Given the description of an element on the screen output the (x, y) to click on. 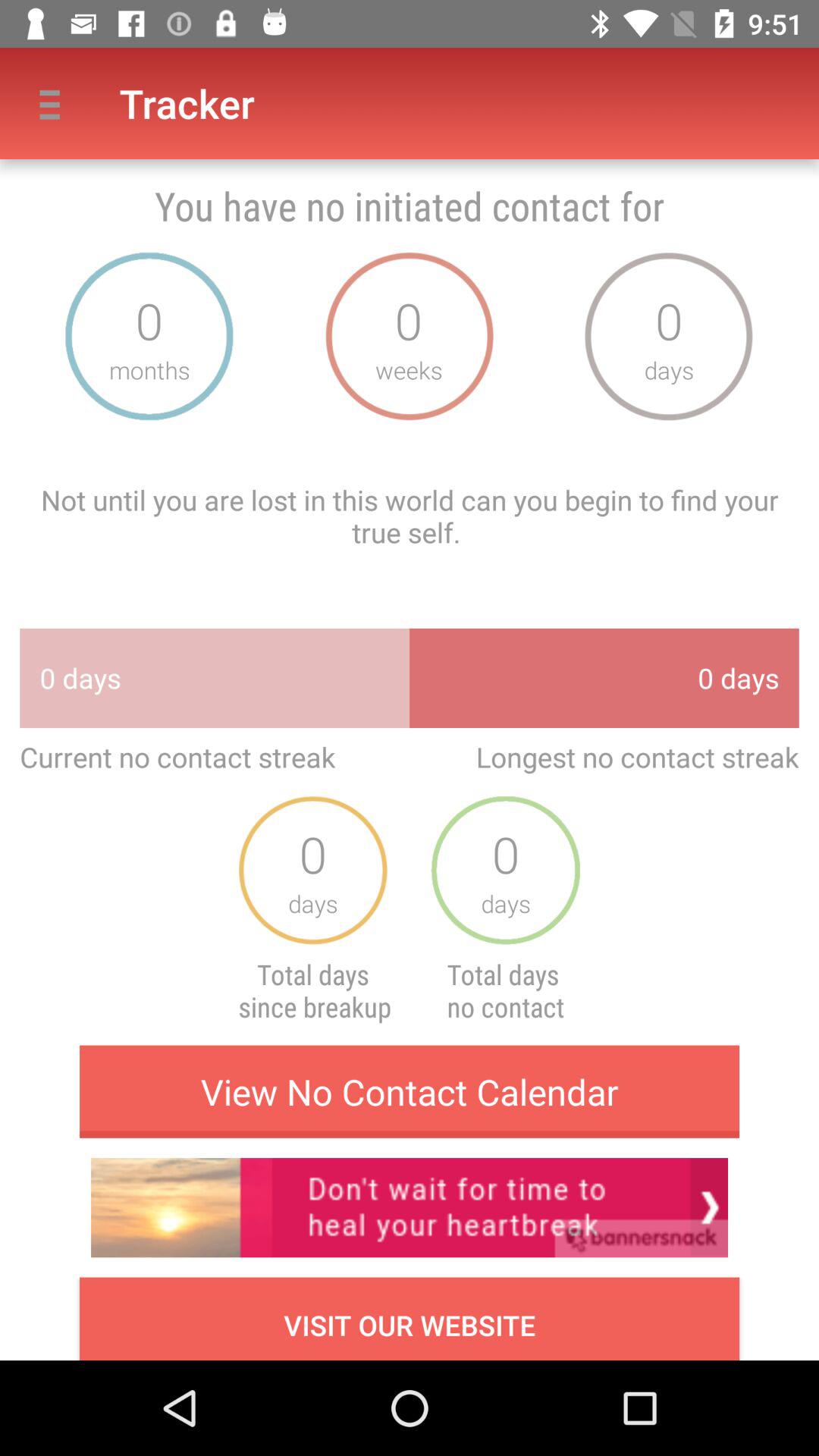
advertisement (409, 1207)
